Given the description of an element on the screen output the (x, y) to click on. 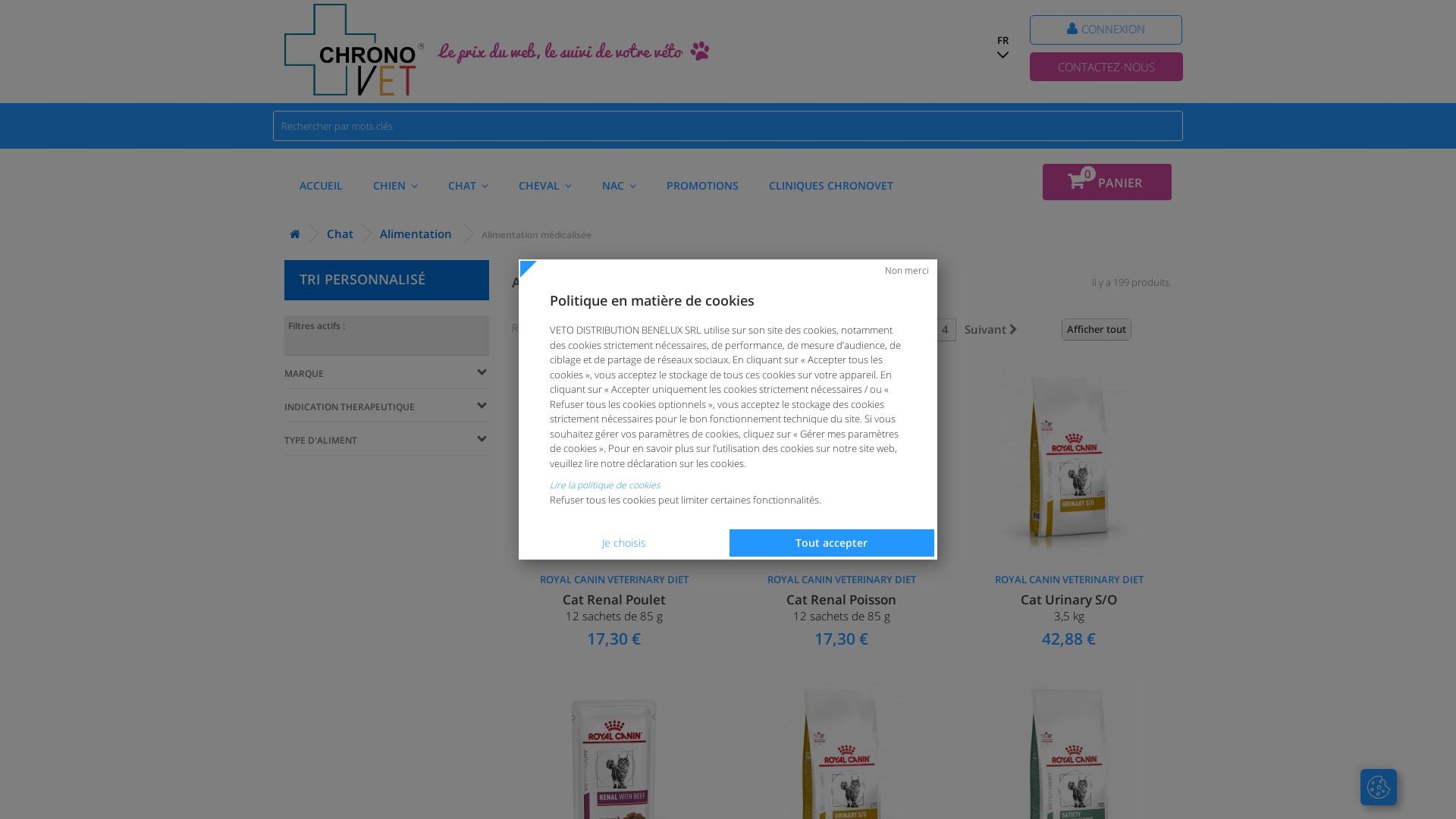
CHEVAL Element type: text (544, 184)
CLINIQUES CHRONOVET Element type: text (830, 184)
Cat Renal Poulet 12 sachets de 85 g Element type: text (614, 610)
NAC Element type: text (618, 184)
2 Element type: text (899, 329)
Chat Element type: text (337, 233)
Cat Renal Poisson Element type: hover (841, 460)
Cat Urinary S/O 3,5 kg Element type: text (1069, 610)
3 Element type: text (922, 329)
0
PANIER Element type: text (1106, 181)
Cat Urinary S/O Element type: hover (1068, 460)
Afficher tout Element type: text (1096, 329)
Cat Renal Poulet Element type: hover (613, 460)
ACCUEIL Element type: text (320, 184)
CHAT Element type: text (468, 184)
Cat Urinary S/O Element type: hover (1069, 460)
CONTACTEZ-NOUS Element type: text (1106, 66)
Suivant Element type: text (990, 329)
Chronovet Element type: hover (353, 49)
Cat Renal Poulet Element type: hover (614, 460)
Cat Renal Thon Element type: hover (841, 460)
CHIEN Element type: text (395, 184)
4 Element type: text (945, 329)
Chien Element type: hover (292, 233)
PROMOTIONS Element type: text (702, 184)
Alimentation Element type: text (413, 233)
Cat Renal Poisson 12 sachets de 85 g Element type: text (841, 610)
